Given the description of an element on the screen output the (x, y) to click on. 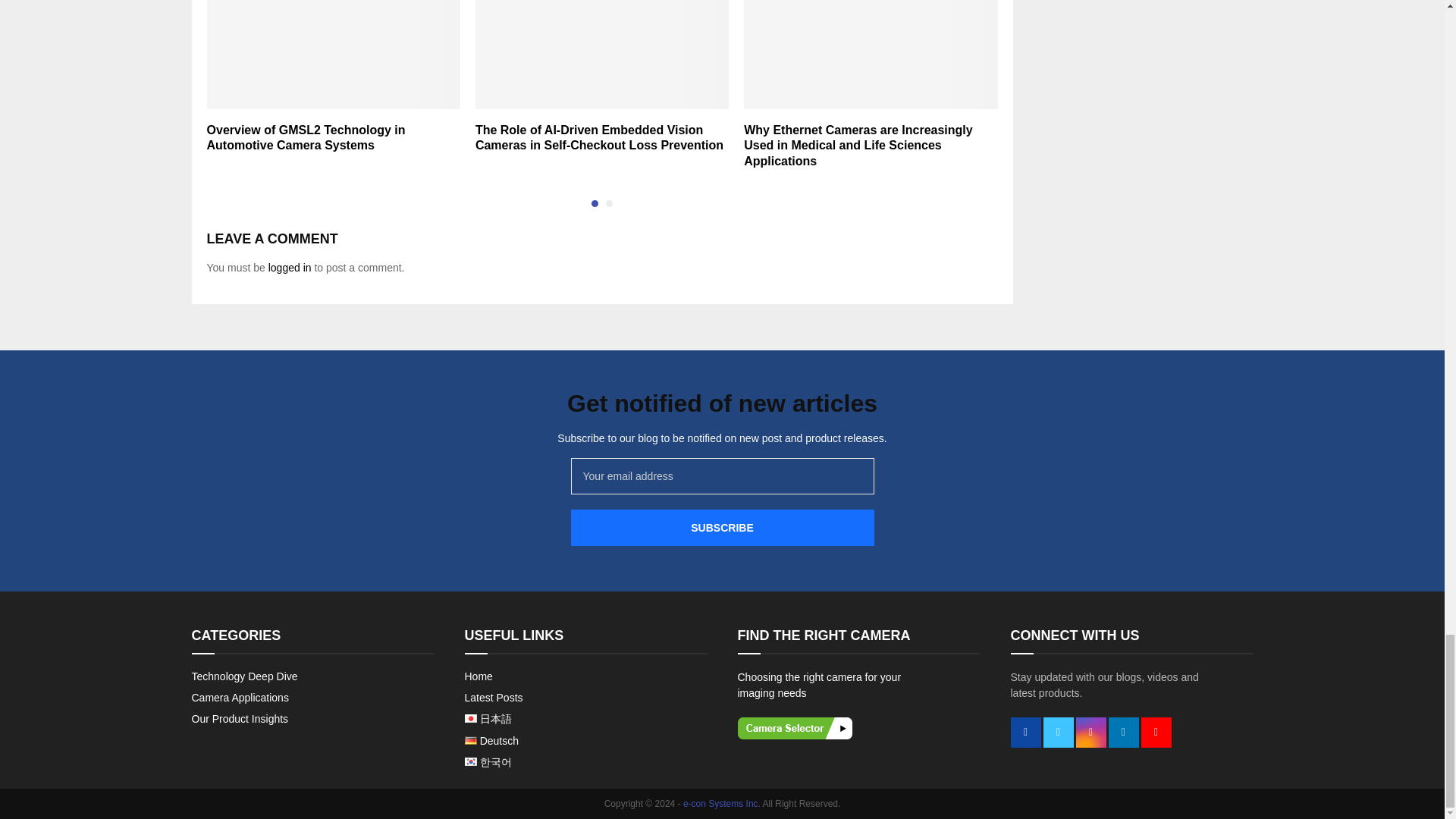
Subscribe (721, 527)
